Given the description of an element on the screen output the (x, y) to click on. 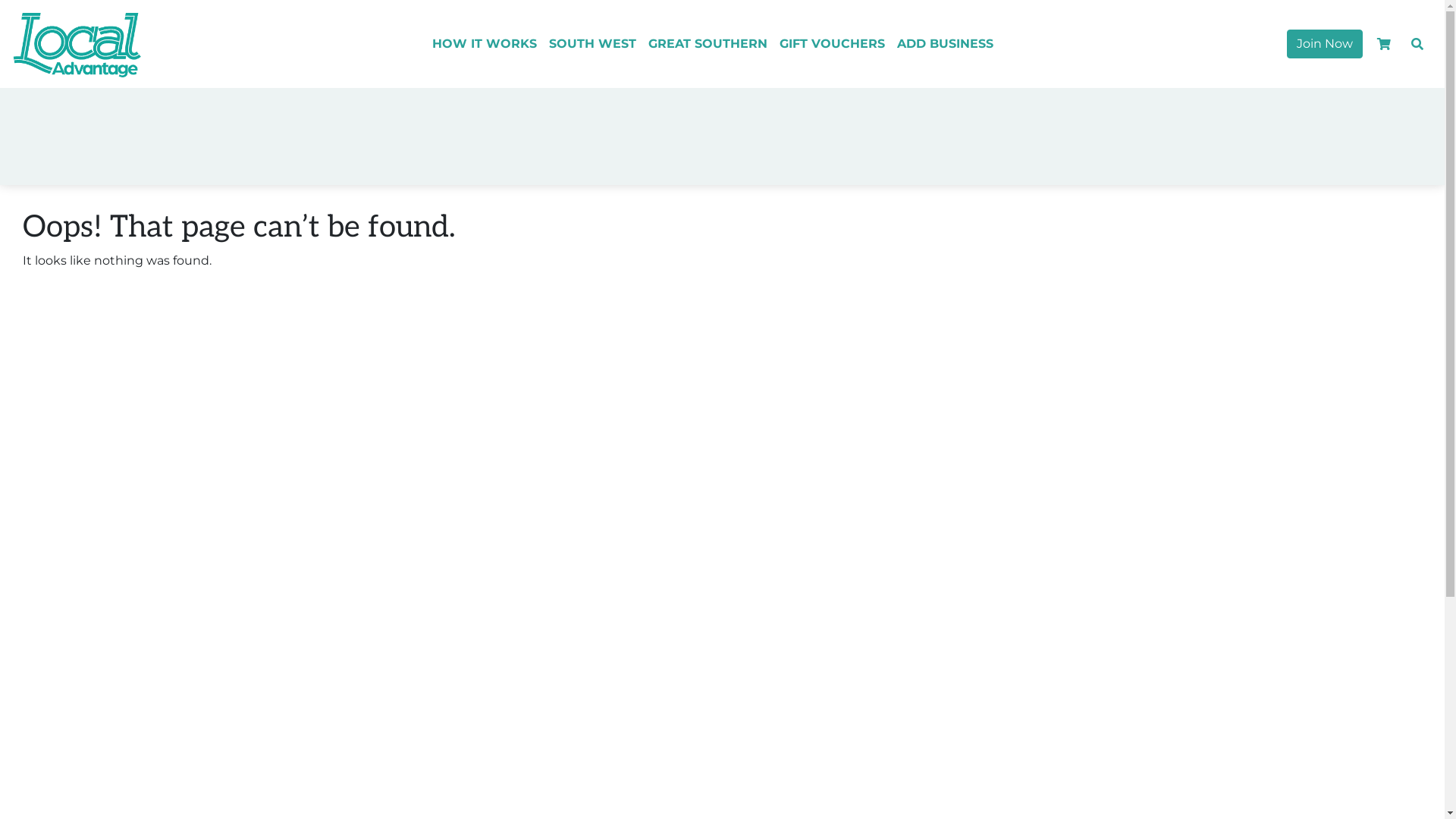
HOW IT WORKS Element type: text (484, 43)
ADD BUSINESS Element type: text (945, 43)
GREAT SOUTHERN Element type: text (707, 43)
Join Now Element type: text (1324, 43)
GIFT VOUCHERS Element type: text (832, 43)
SOUTH WEST Element type: text (592, 43)
